Given the description of an element on the screen output the (x, y) to click on. 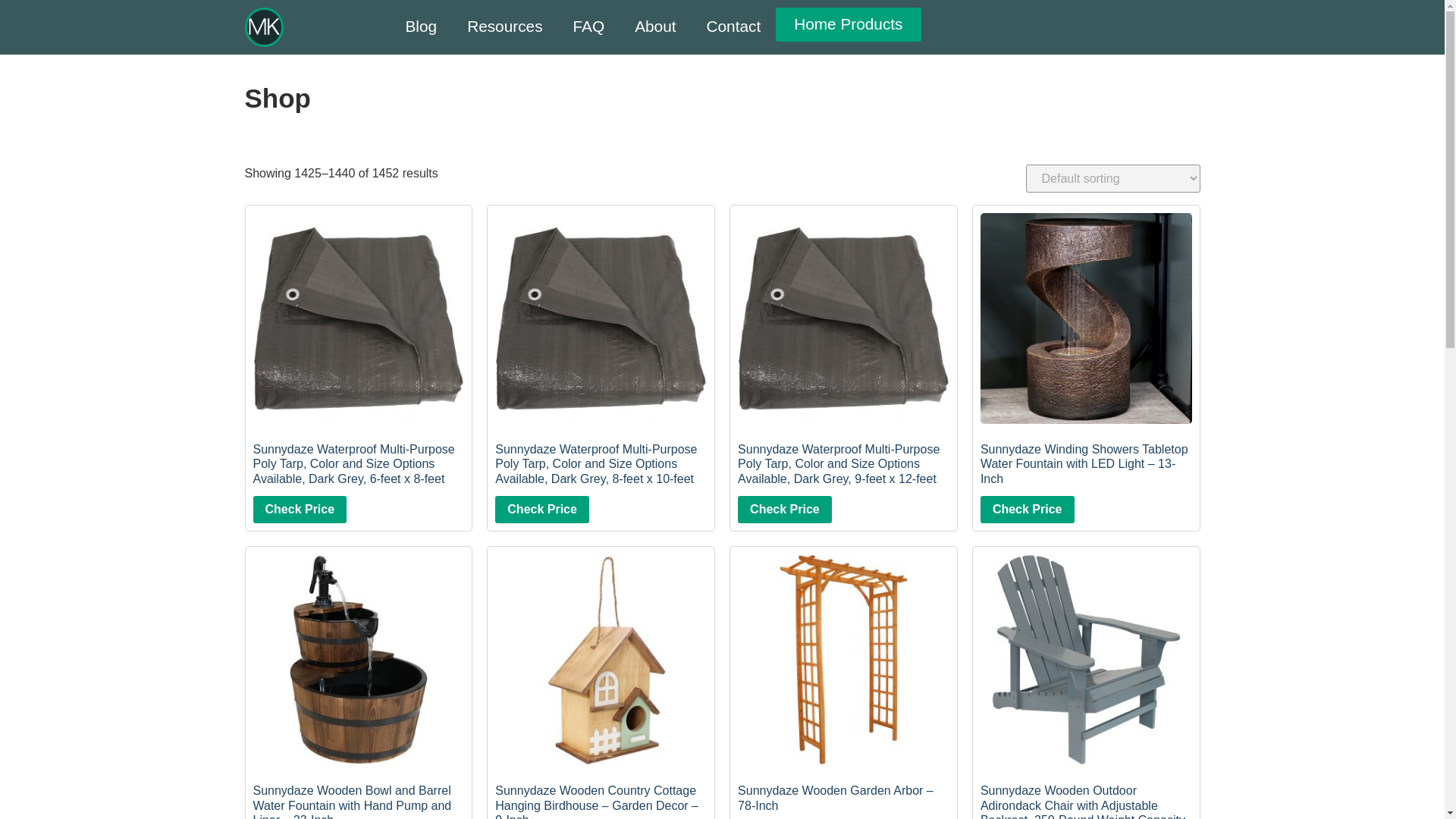
Home Products (848, 24)
Home Products (848, 24)
Contact (733, 26)
Check Price (1026, 509)
About (655, 26)
FAQ (588, 26)
Check Price (300, 509)
Resources (504, 26)
Check Price (784, 509)
Check Price (542, 509)
Blog (420, 26)
